Given the description of an element on the screen output the (x, y) to click on. 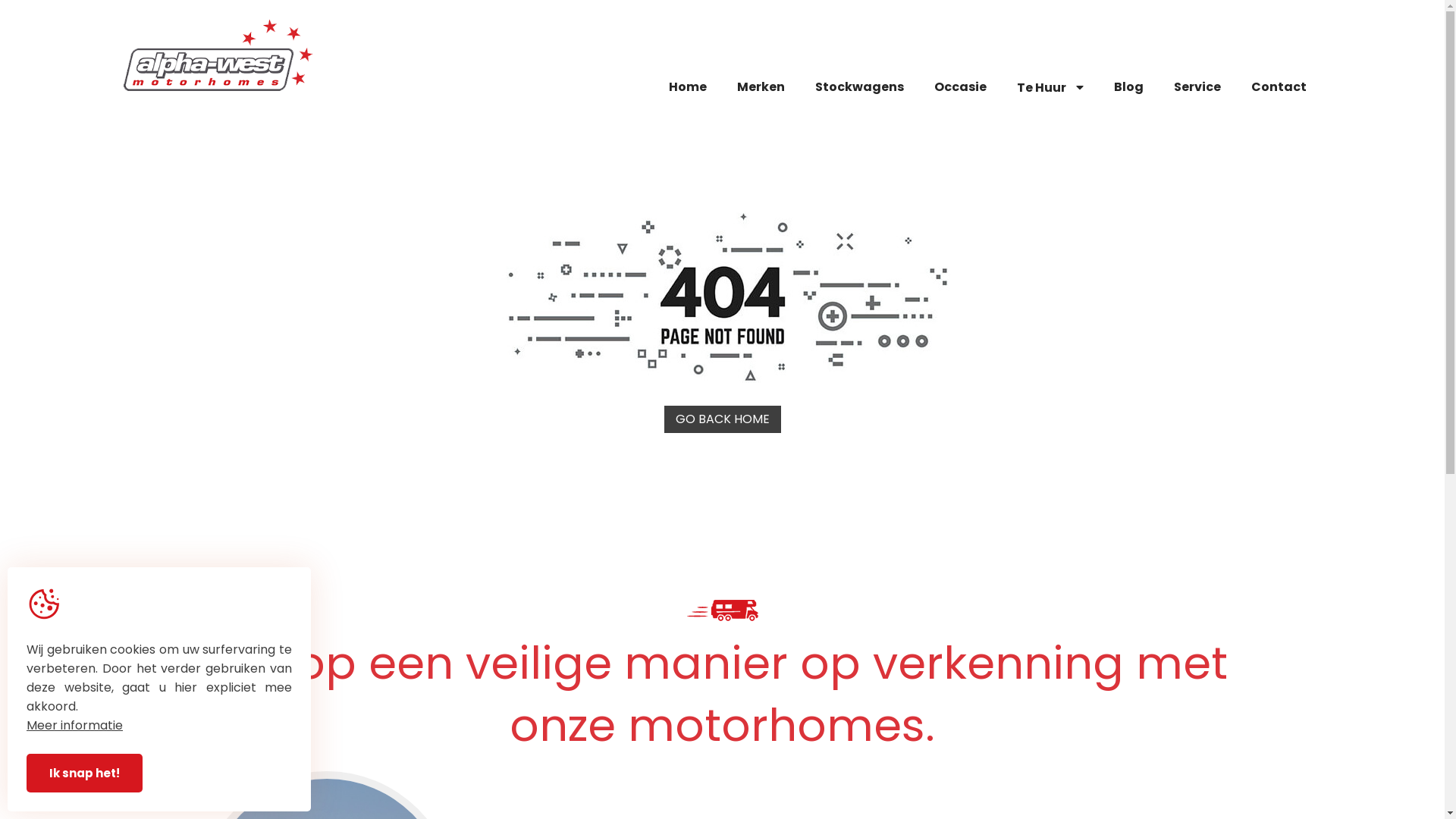
Ik snap het! Element type: text (84, 772)
Stockwagens Element type: text (858, 87)
Meer informatie Element type: text (74, 725)
Contact Element type: text (1278, 87)
Service Element type: text (1196, 87)
Merken Element type: text (760, 87)
Occasie Element type: text (960, 87)
Home Element type: text (687, 87)
GO BACK HOME Element type: text (722, 419)
Te Huur Element type: text (1049, 88)
Blog Element type: text (1127, 87)
